Given the description of an element on the screen output the (x, y) to click on. 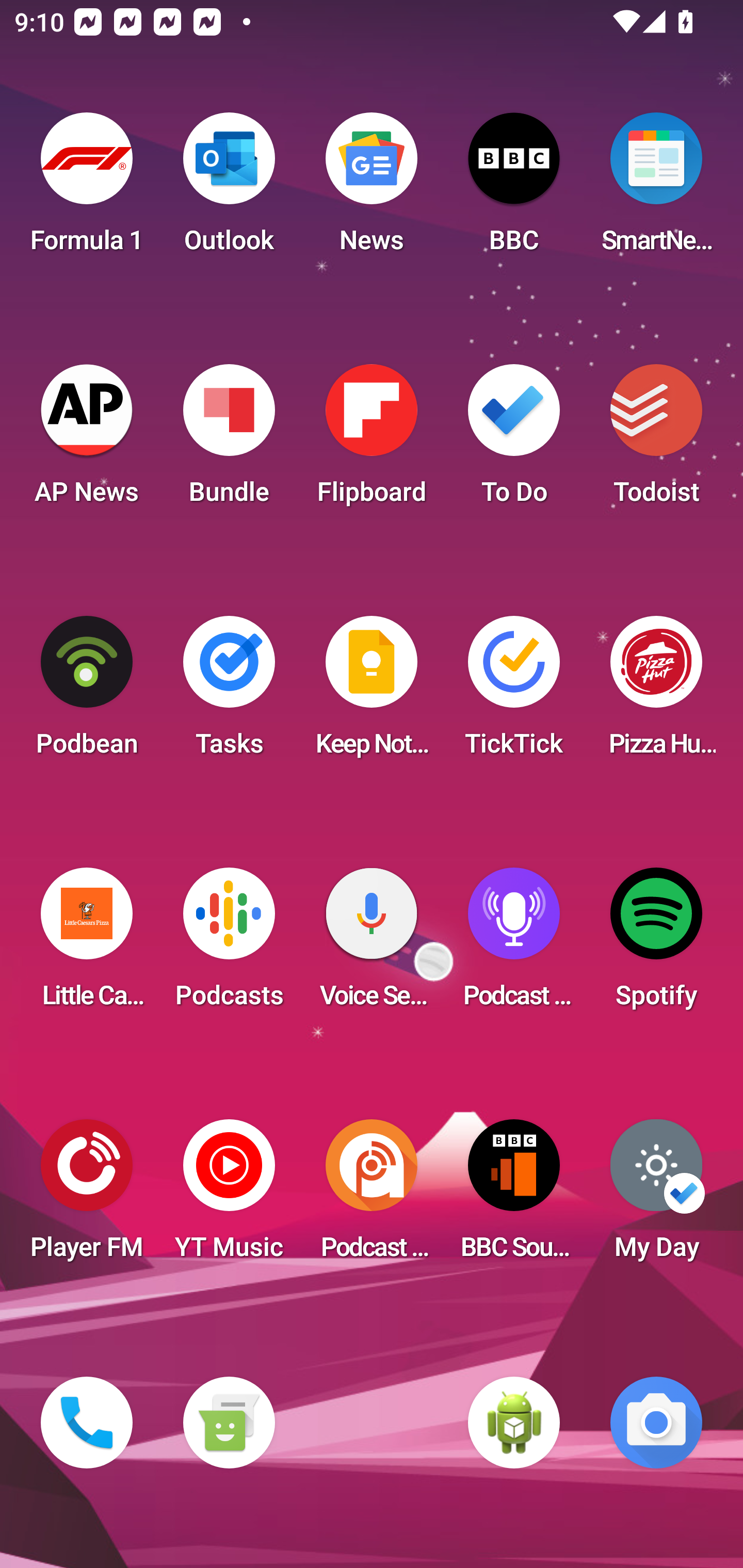
Formula 1 (86, 188)
Outlook (228, 188)
News (371, 188)
BBC (513, 188)
SmartNews (656, 188)
AP News (86, 440)
Bundle (228, 440)
Flipboard (371, 440)
To Do (513, 440)
Todoist (656, 440)
Podbean (86, 692)
Tasks (228, 692)
Keep Notes (371, 692)
TickTick (513, 692)
Pizza Hut HK & Macau (656, 692)
Little Caesars Pizza (86, 943)
Podcasts (228, 943)
Voice Search (371, 943)
Podcast Player (513, 943)
Spotify (656, 943)
Player FM (86, 1195)
YT Music (228, 1195)
Podcast Addict (371, 1195)
BBC Sounds (513, 1195)
My Day (656, 1195)
Phone (86, 1422)
Messaging (228, 1422)
WebView Browser Tester (513, 1422)
Camera (656, 1422)
